Given the description of an element on the screen output the (x, y) to click on. 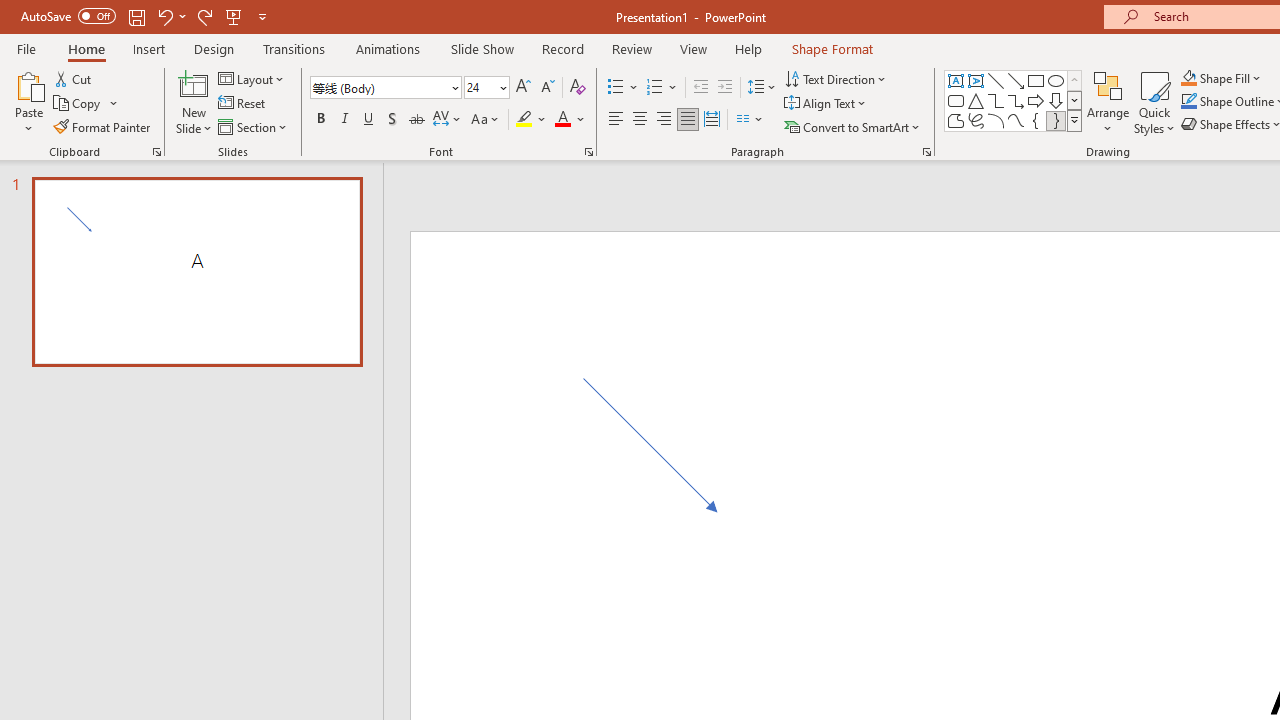
Rectangle (1035, 80)
Font Color Red (562, 119)
Quick Styles (1154, 102)
Font Color (569, 119)
Text Direction (836, 78)
Curve (1016, 120)
Bold (320, 119)
Decrease Indent (700, 87)
